Given the description of an element on the screen output the (x, y) to click on. 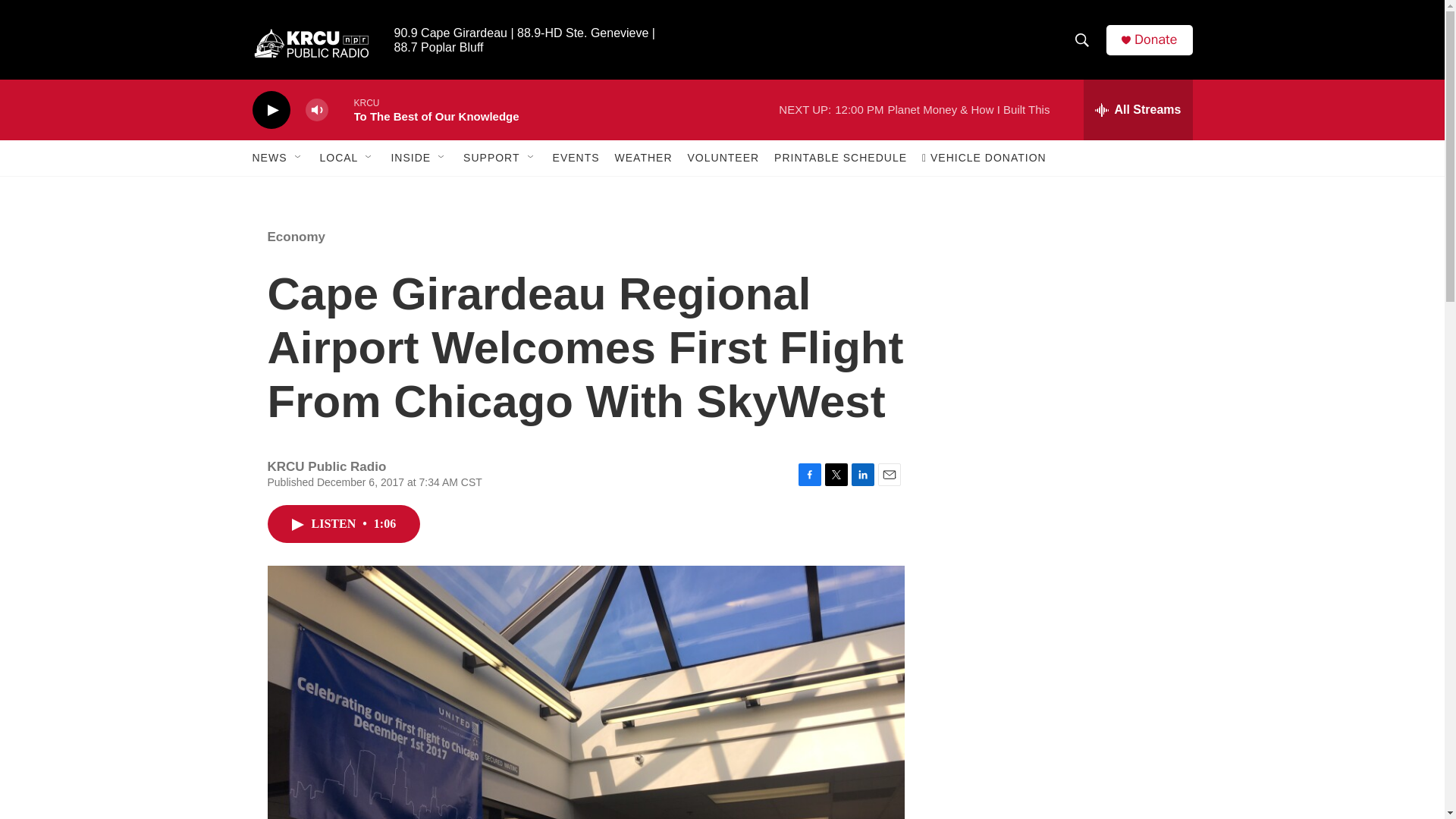
3rd party ad content (1062, 316)
3rd party ad content (1063, 536)
